Given the description of an element on the screen output the (x, y) to click on. 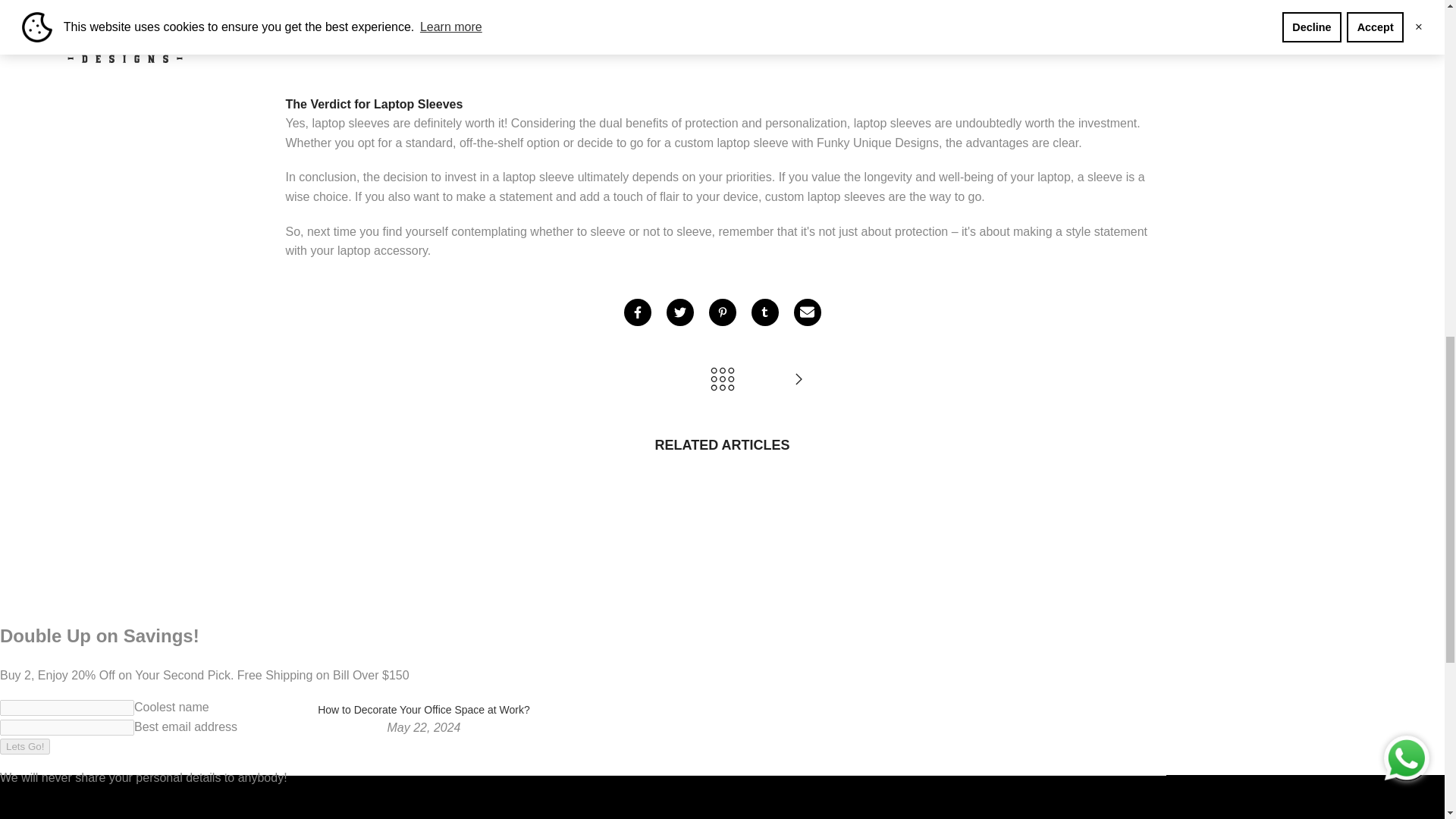
Share on Facebook (636, 311)
Share on Pinterest (721, 311)
Share on Twitter (679, 311)
Back to Accessories (722, 379)
Share on Tumblr (764, 311)
How to Decorate Your Office Space at Work? (797, 379)
Share on Email (807, 311)
